Given the description of an element on the screen output the (x, y) to click on. 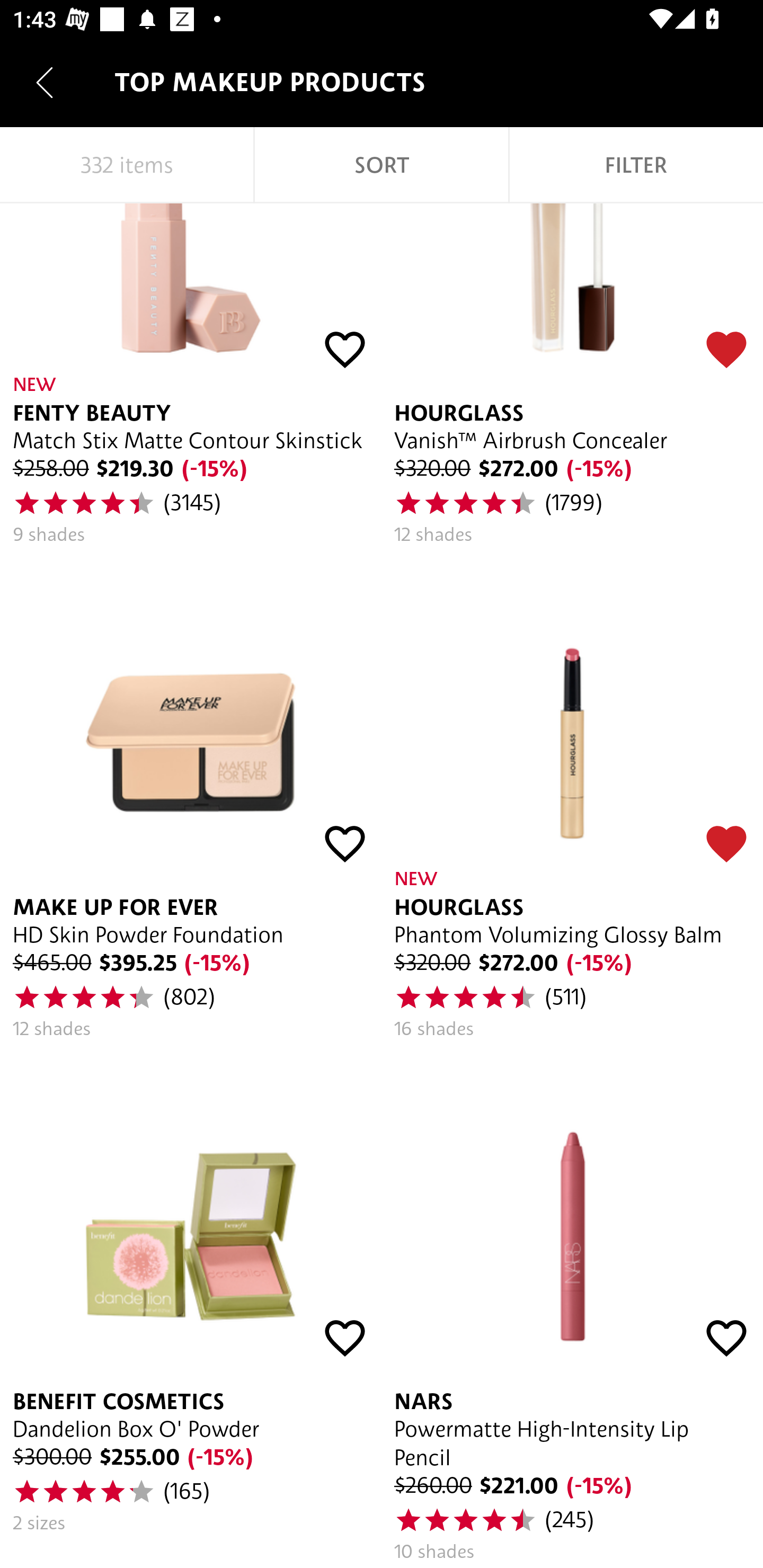
Navigate up (44, 82)
SORT (381, 165)
FILTER (636, 165)
